Given the description of an element on the screen output the (x, y) to click on. 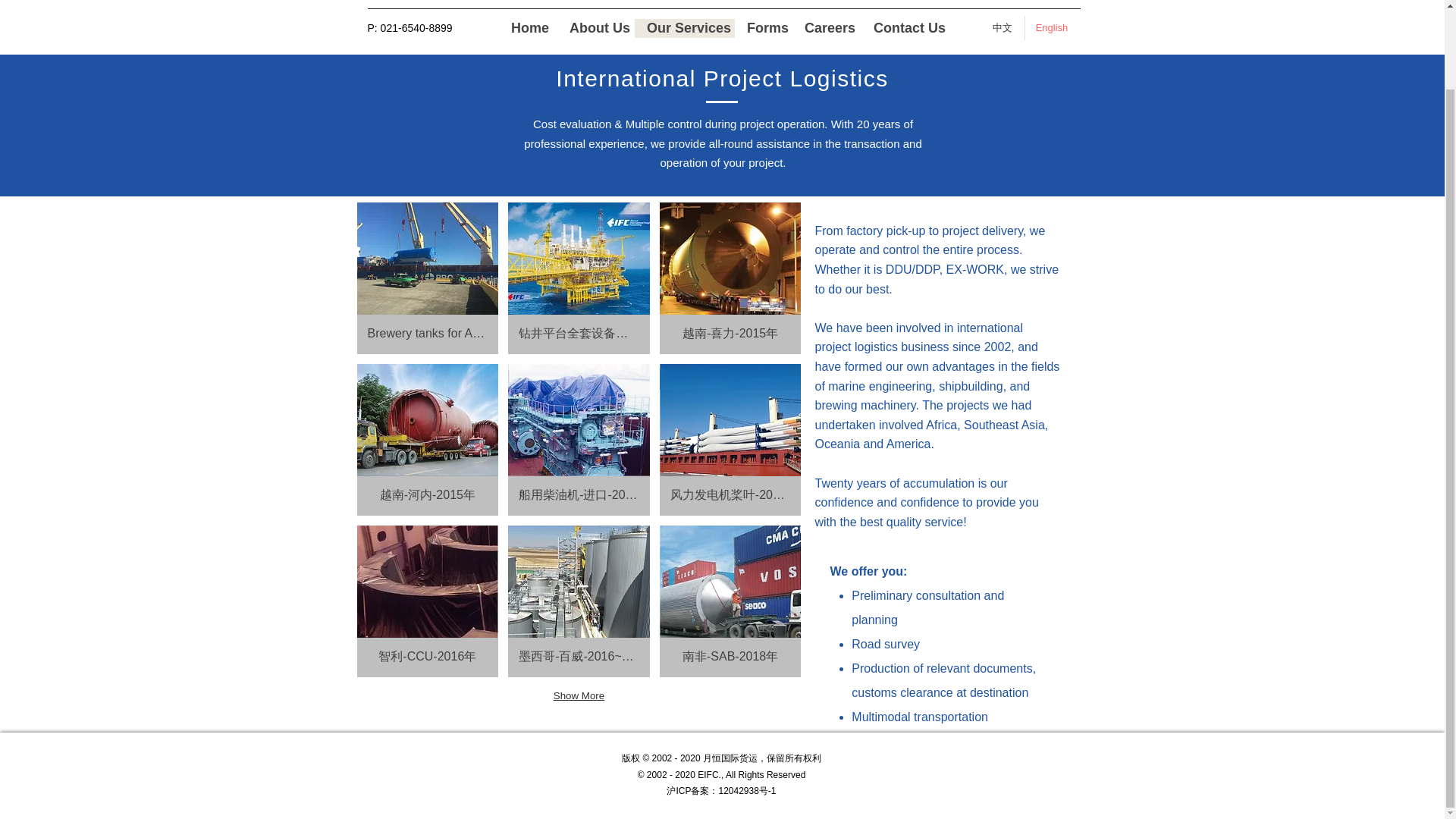
Our Services (684, 27)
Careers (826, 27)
English (1052, 27)
Show More (579, 695)
About Us (595, 27)
Contact Us (905, 27)
Home (528, 27)
Forms (763, 27)
